Given the description of an element on the screen output the (x, y) to click on. 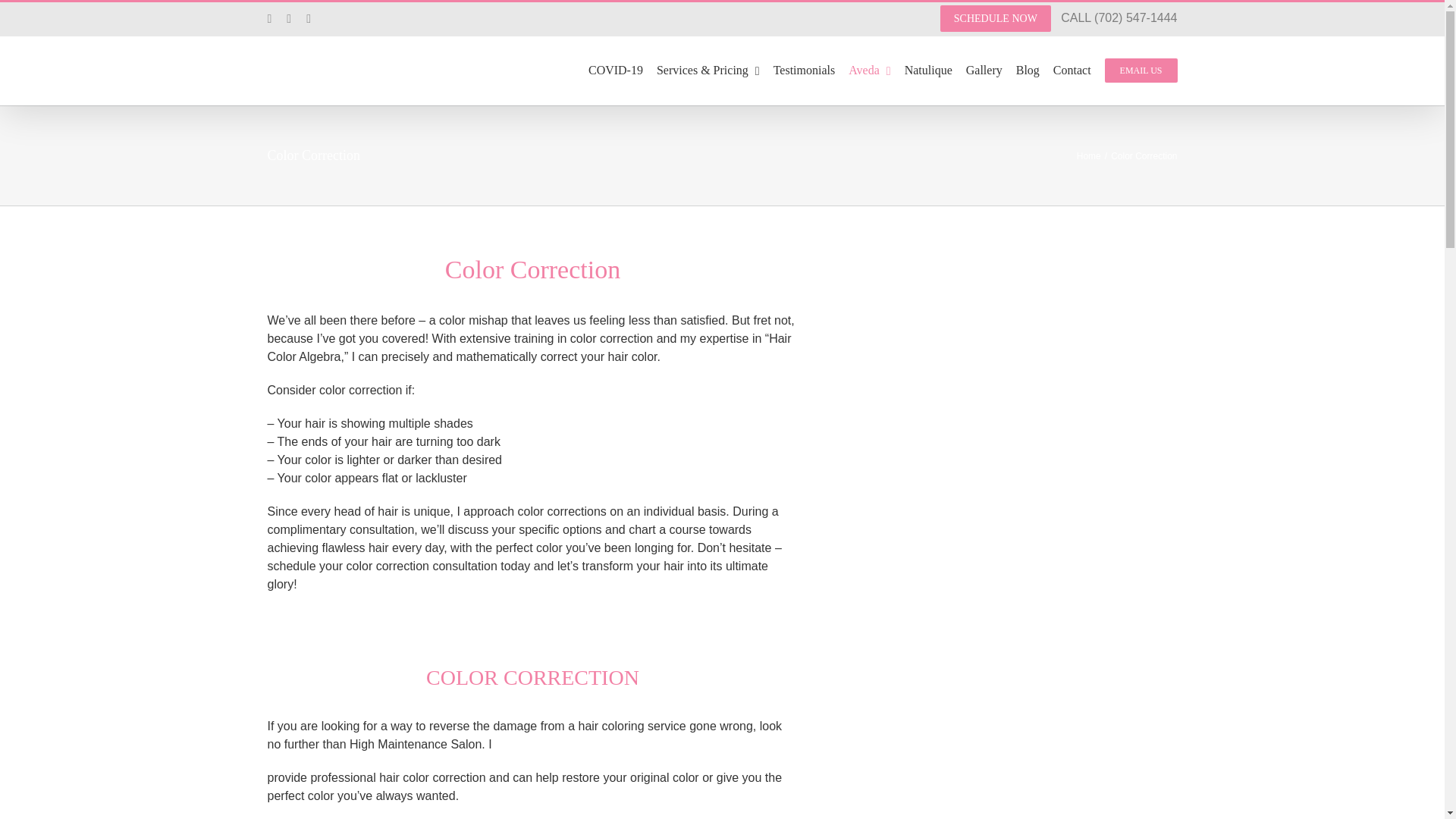
Testimonials (804, 70)
Home (1088, 154)
SCHEDULE NOW (995, 17)
EMAIL US (1141, 70)
